Given the description of an element on the screen output the (x, y) to click on. 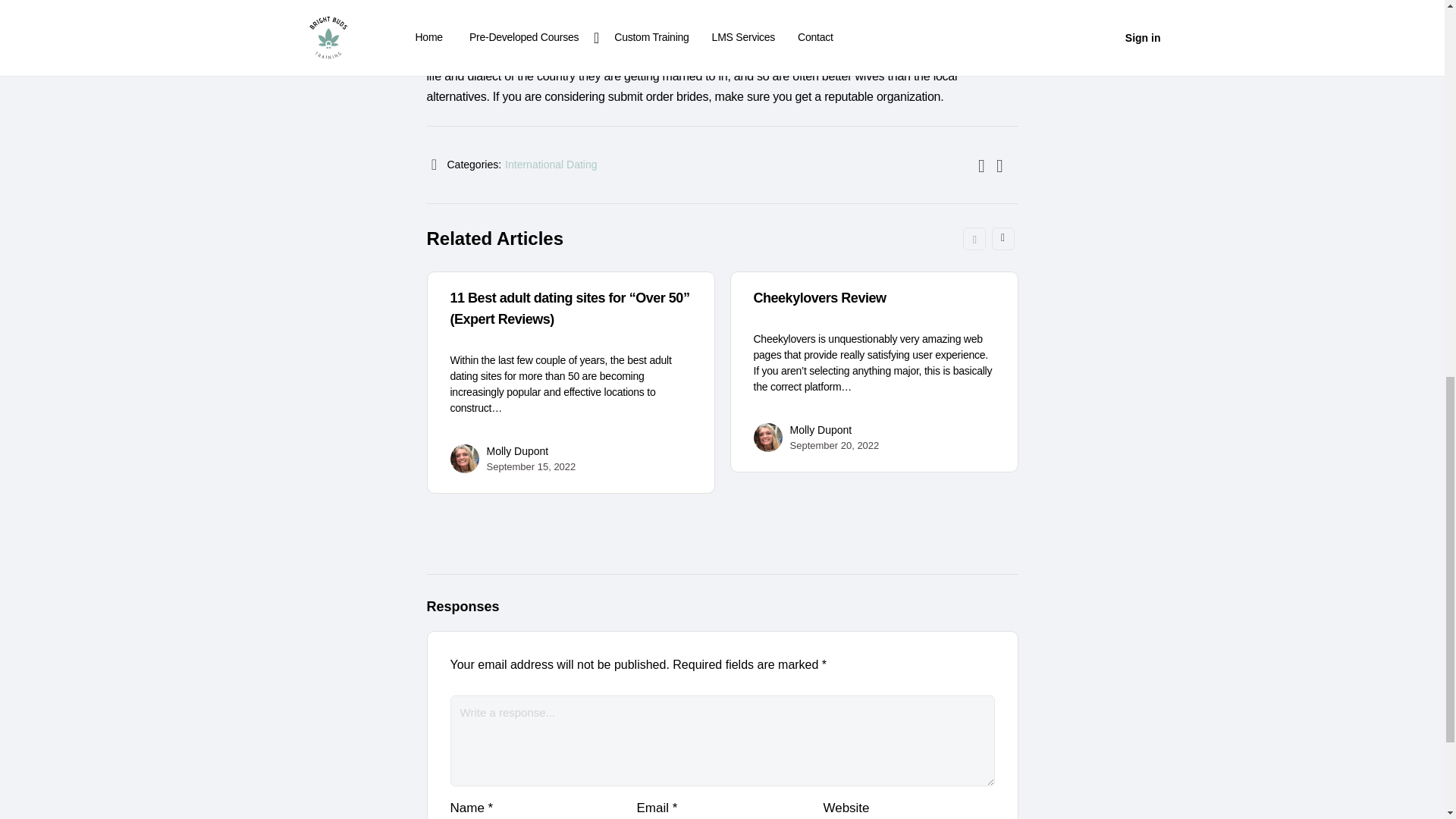
International Dating (550, 164)
